Given the description of an element on the screen output the (x, y) to click on. 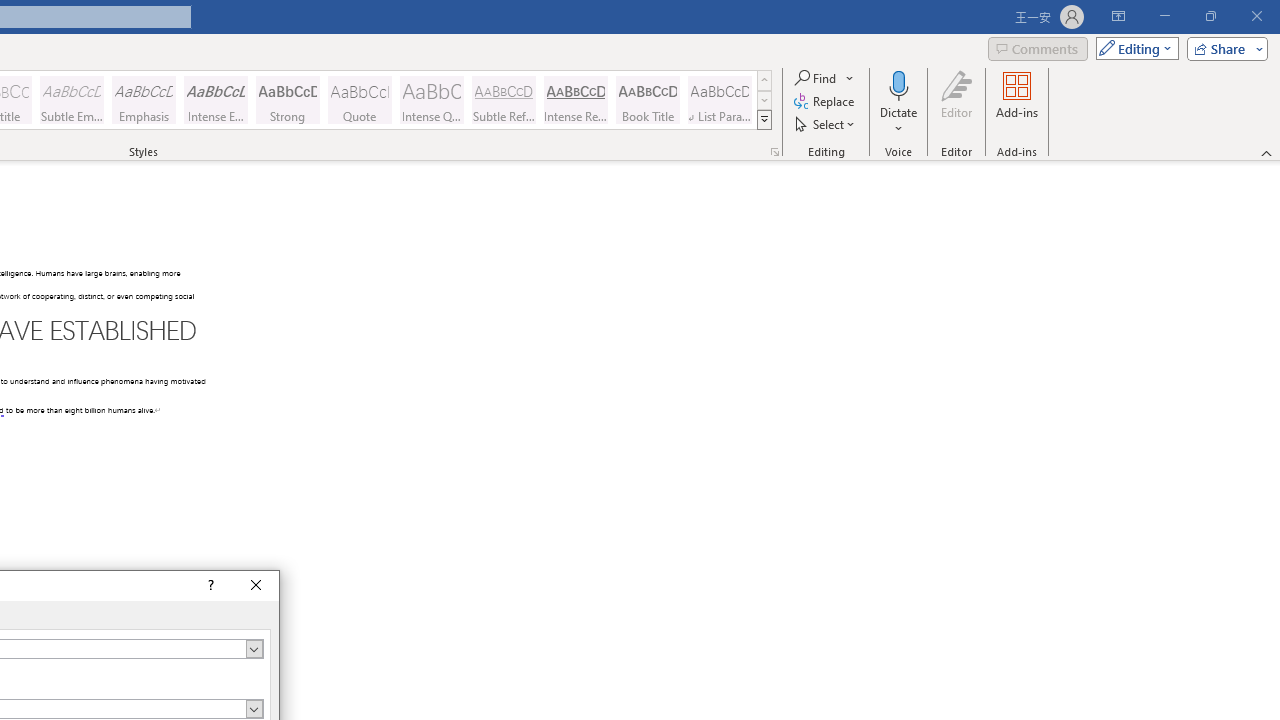
Book Title (647, 100)
Intense Quote (431, 100)
